Given the description of an element on the screen output the (x, y) to click on. 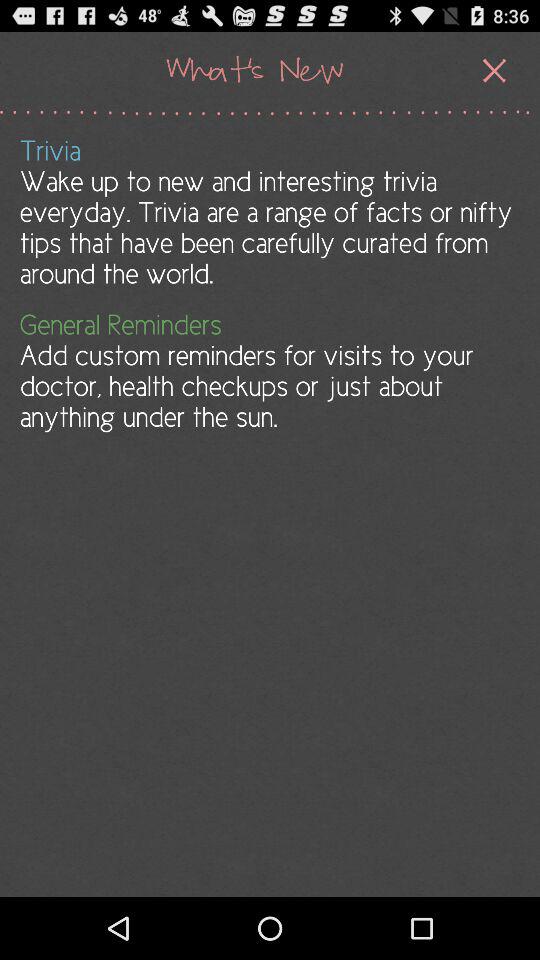
launch icon above general reminders add (268, 212)
